Given the description of an element on the screen output the (x, y) to click on. 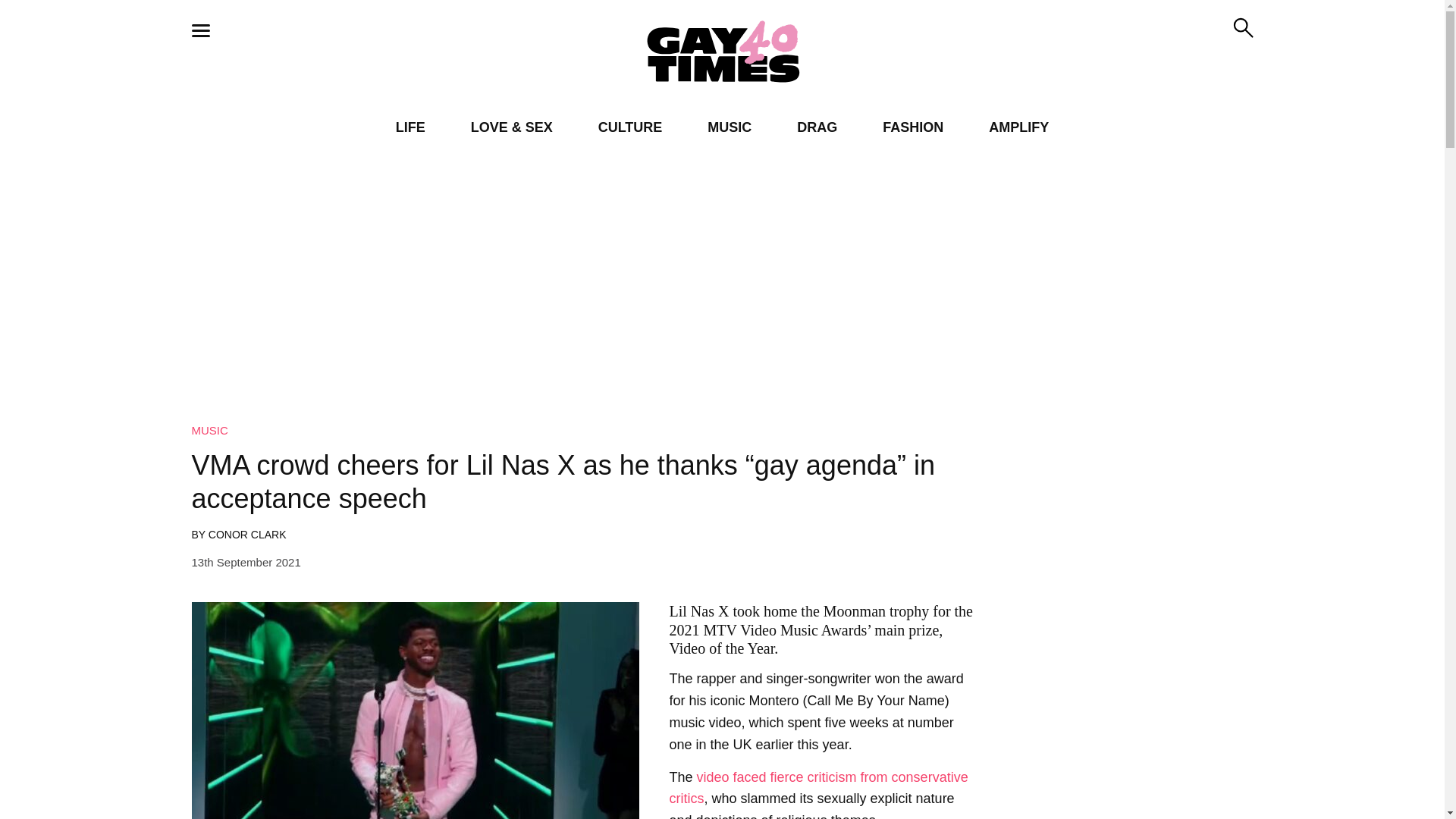
FASHION (912, 127)
LIFE (410, 127)
DRAG (816, 127)
AMPLIFY (1018, 127)
MUSIC (729, 127)
CONOR CLARK (247, 534)
MUSIC (208, 430)
CULTURE (630, 127)
